Given the description of an element on the screen output the (x, y) to click on. 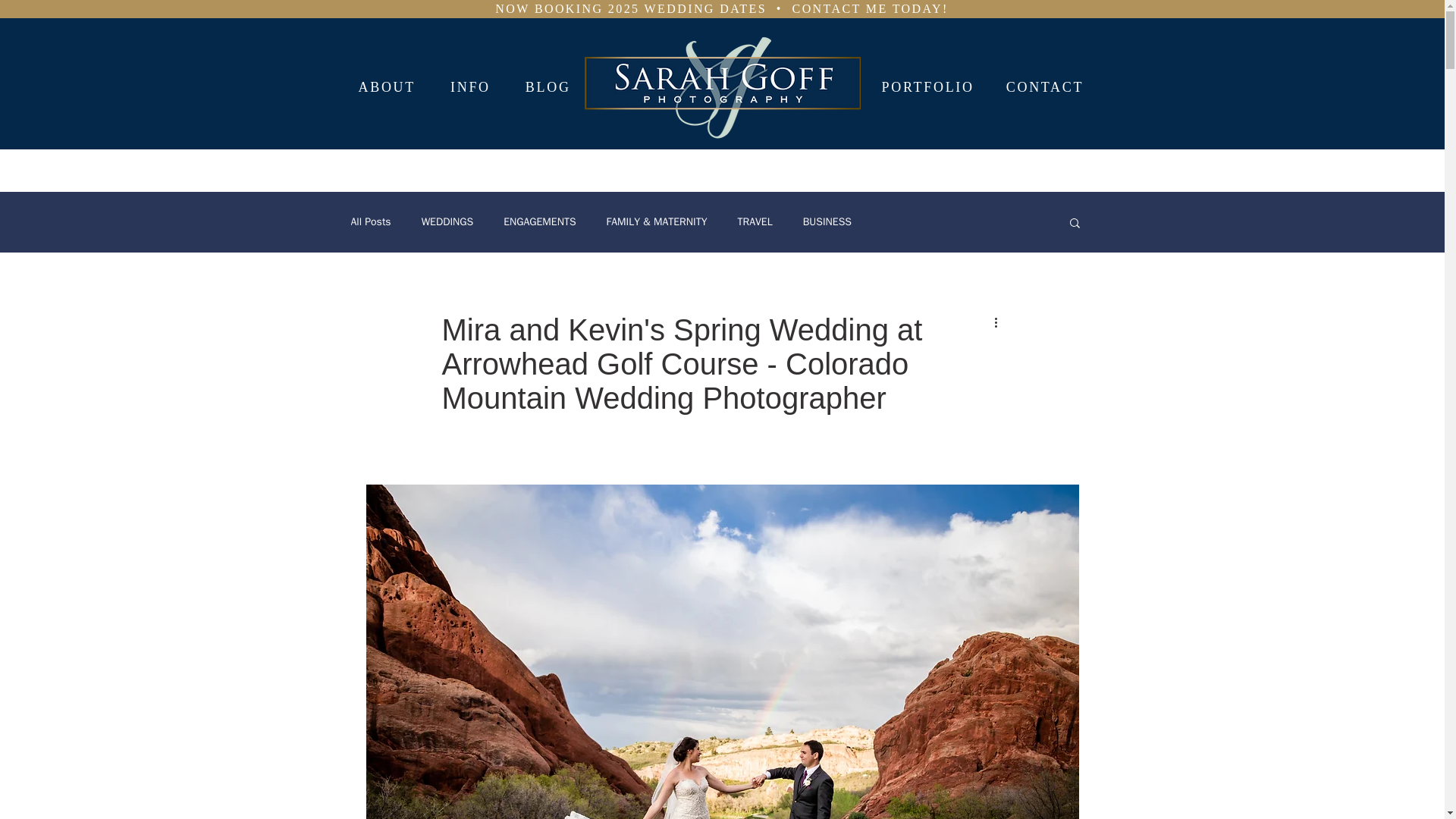
CONTACT ME TODAY! (870, 8)
BUSINESS (827, 222)
ABOUT (386, 87)
All Posts (370, 222)
CONTACT (1044, 87)
BLOG (548, 87)
WEDDINGS (448, 222)
TRAVEL (753, 222)
ENGAGEMENTS (539, 222)
